Given the description of an element on the screen output the (x, y) to click on. 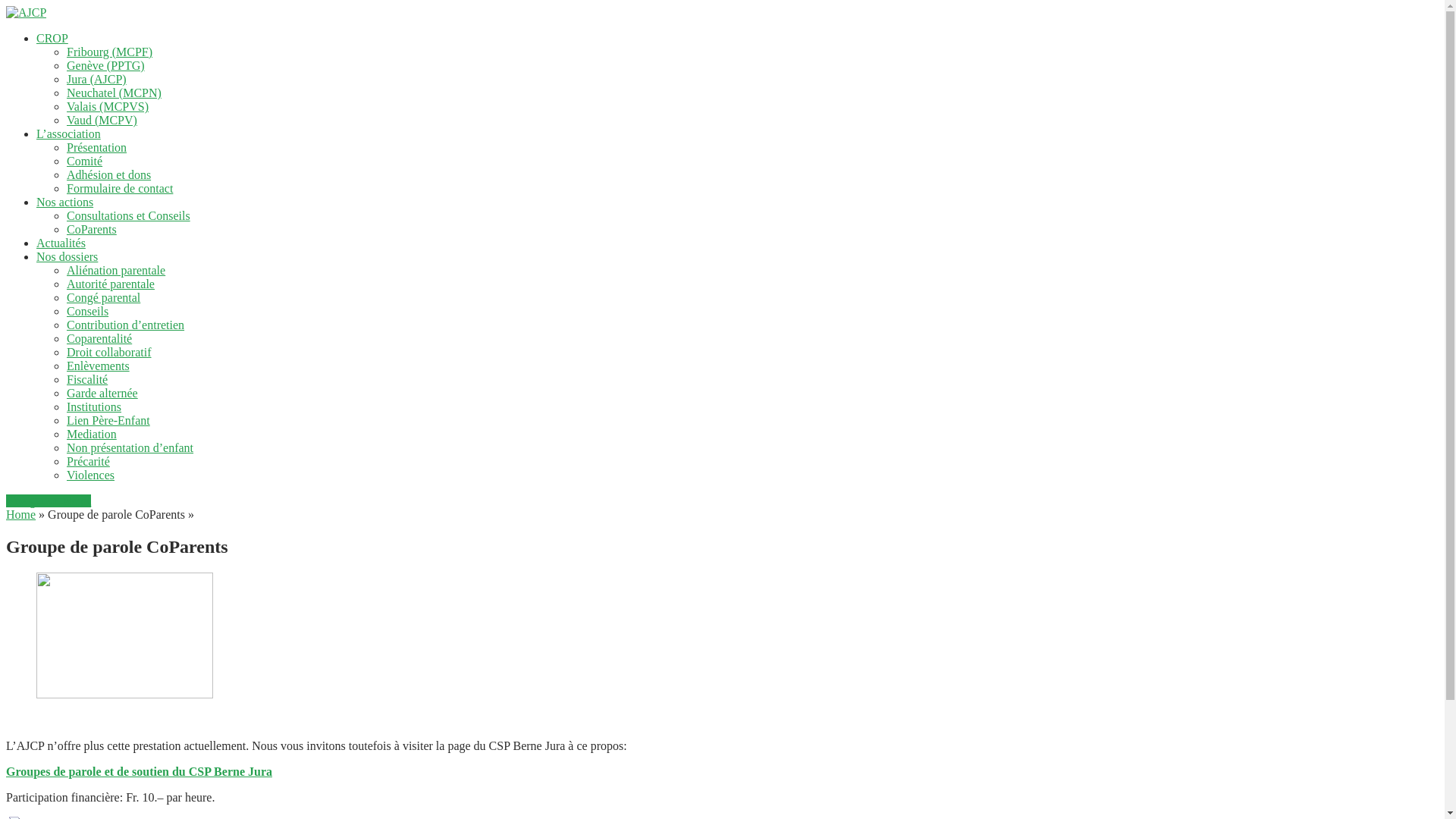
Valais (MCPVS) Element type: text (107, 106)
Violences Element type: text (90, 474)
Navigation Menu Element type: text (48, 500)
Mediation Element type: text (91, 433)
Droit collaboratif Element type: text (108, 351)
Fribourg (MCPF) Element type: text (109, 51)
Groupes de parole et de soutien du CSP Berne Jura Element type: text (139, 771)
Vaud (MCPV) Element type: text (101, 119)
Jura (AJCP) Element type: text (96, 78)
Nos actions Element type: text (64, 201)
CoParents Element type: text (91, 228)
Conseils Element type: text (87, 310)
Consultations et Conseils Element type: text (128, 215)
CROP Element type: text (52, 37)
Formulaire de contact Element type: text (119, 188)
Neuchatel (MCPN) Element type: text (113, 92)
Nos dossiers Element type: text (66, 256)
Home Element type: text (20, 514)
Institutions Element type: text (93, 406)
